Given the description of an element on the screen output the (x, y) to click on. 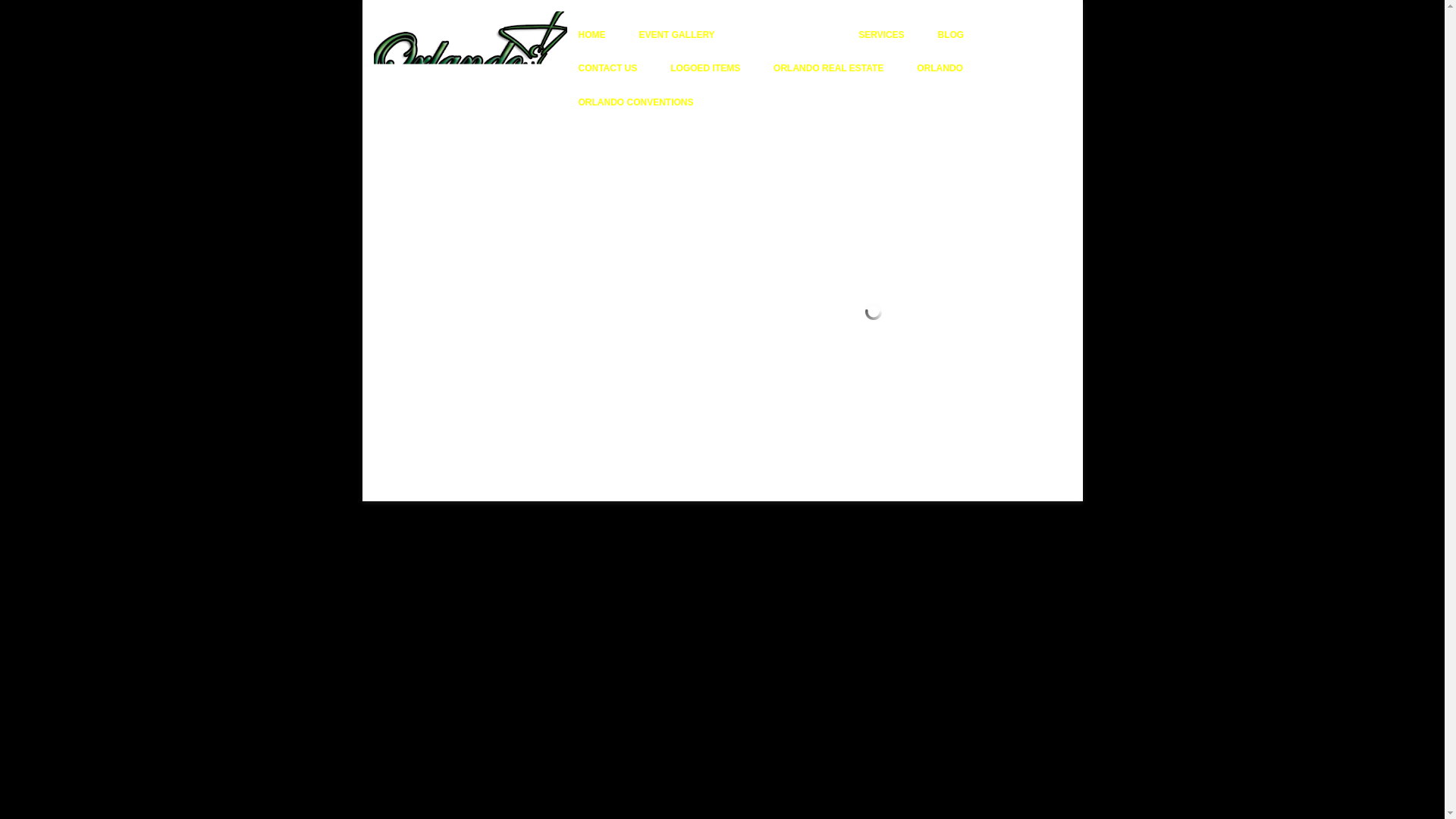
ORLANDO REAL ESTATE (828, 68)
SERVICES (881, 34)
ENTERTAINMENT (786, 34)
CONTACT US (607, 68)
Orlando Special Event Planners (511, 12)
ORLANDO CONVENTIONS (635, 101)
ORLANDO (939, 68)
LOGOED ITEMS (704, 68)
EVENT GALLERY (676, 34)
Orlando Special Event Planners (511, 12)
